Given the description of an element on the screen output the (x, y) to click on. 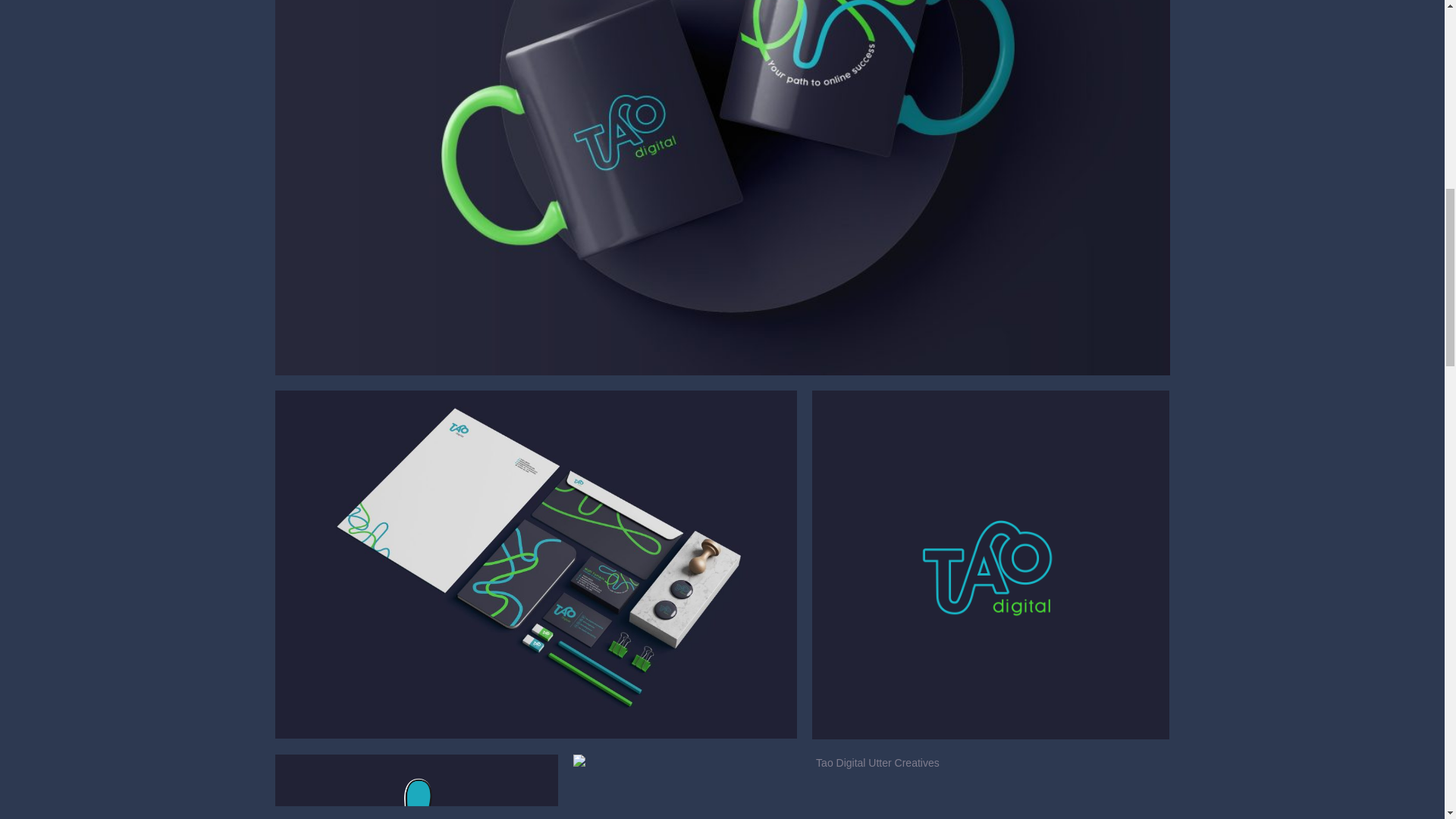
Tao Digital Utter Creatives (990, 564)
Tao Digital Utter Creatives (871, 786)
Tao Digital Utter Creatives (416, 786)
